Given the description of an element on the screen output the (x, y) to click on. 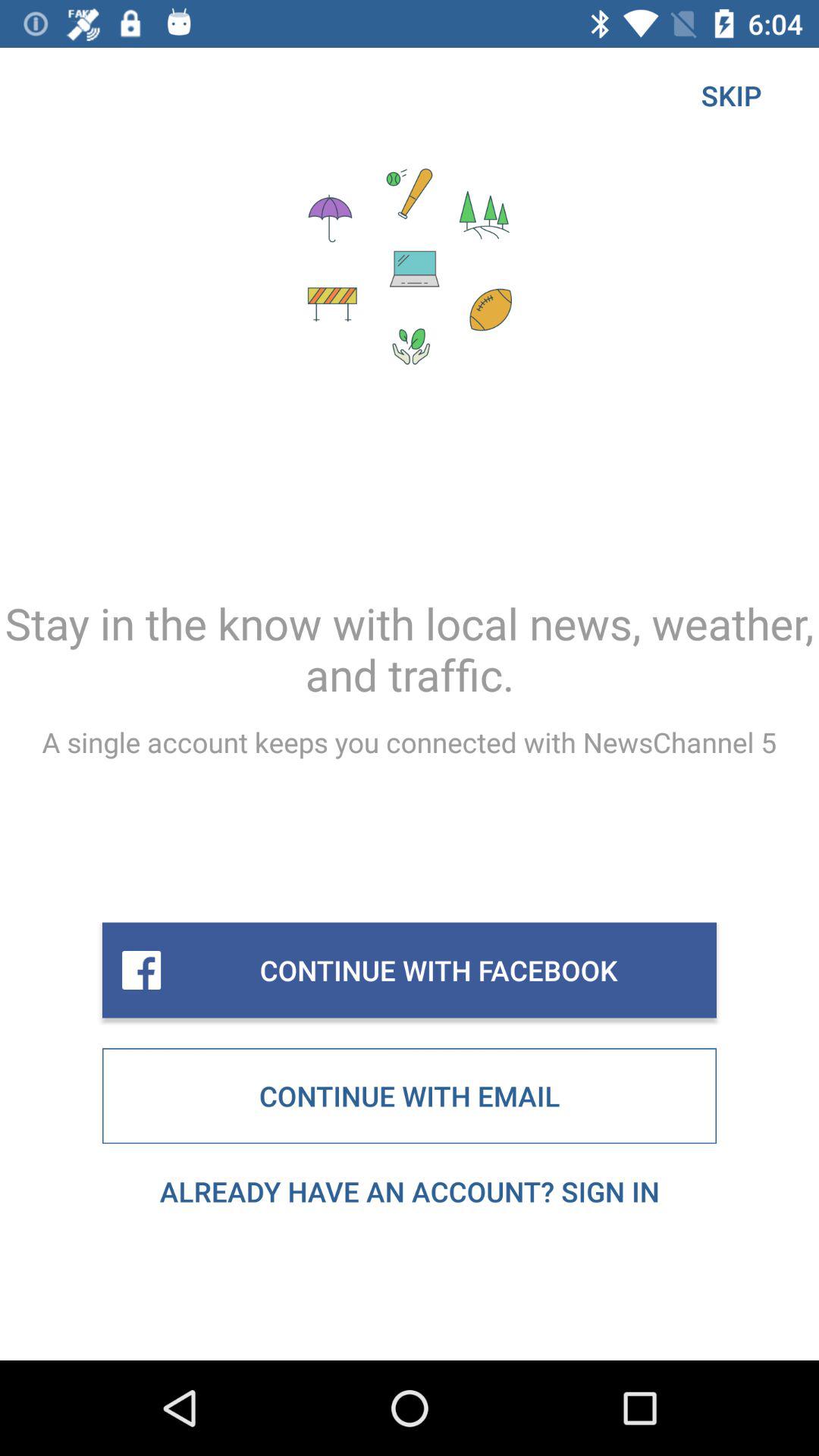
launch the item below continue with email (409, 1191)
